Given the description of an element on the screen output the (x, y) to click on. 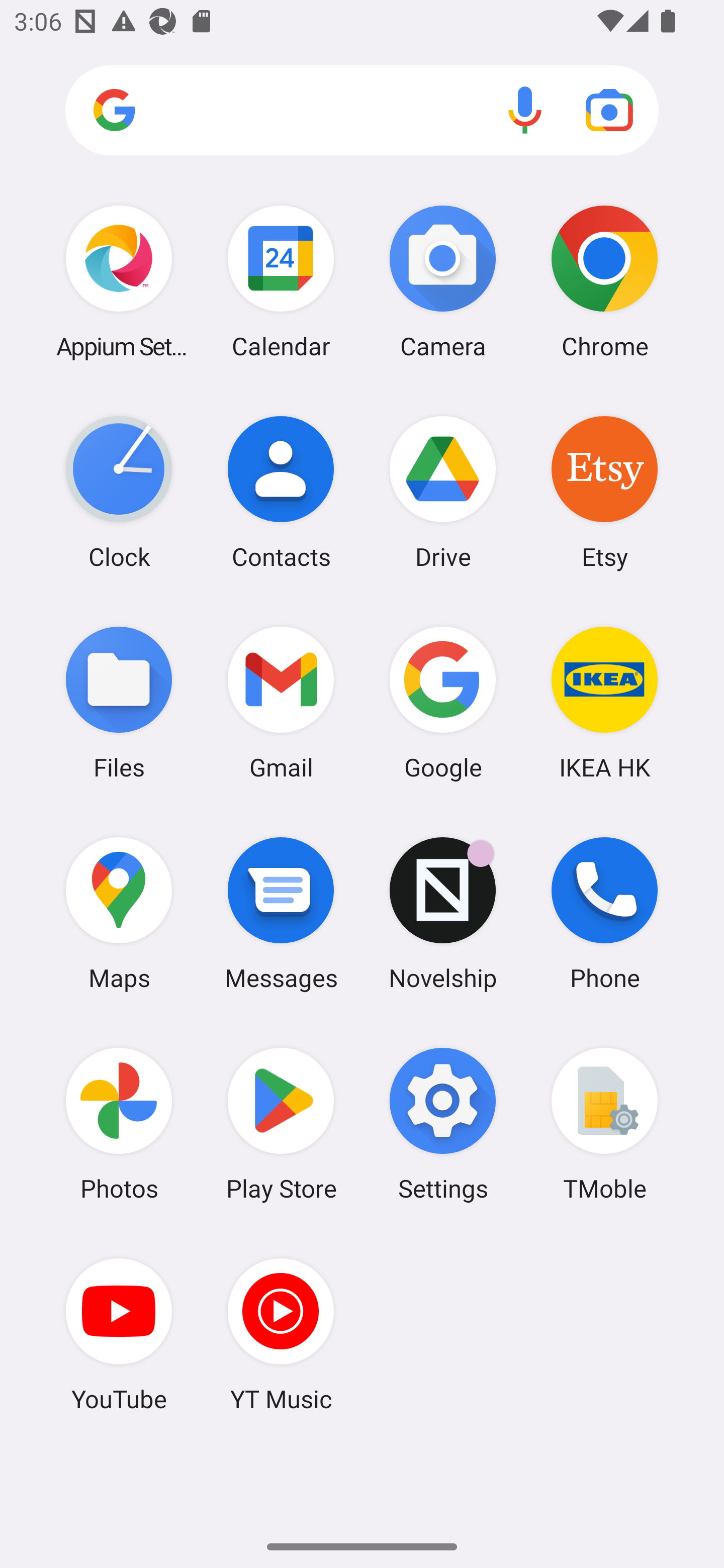
Search apps, web and more (361, 110)
Voice search (524, 109)
Google Lens (608, 109)
Appium Settings (118, 281)
Calendar (280, 281)
Camera (443, 281)
Chrome (604, 281)
Clock (118, 492)
Contacts (280, 492)
Drive (443, 492)
Etsy (604, 492)
Files (118, 702)
Gmail (280, 702)
Google (443, 702)
IKEA HK (604, 702)
Maps (118, 913)
Messages (280, 913)
Novelship Novelship has 1 notification (443, 913)
Phone (604, 913)
Photos (118, 1124)
Play Store (280, 1124)
Settings (443, 1124)
TMoble (604, 1124)
YouTube (118, 1334)
YT Music (280, 1334)
